Given the description of an element on the screen output the (x, y) to click on. 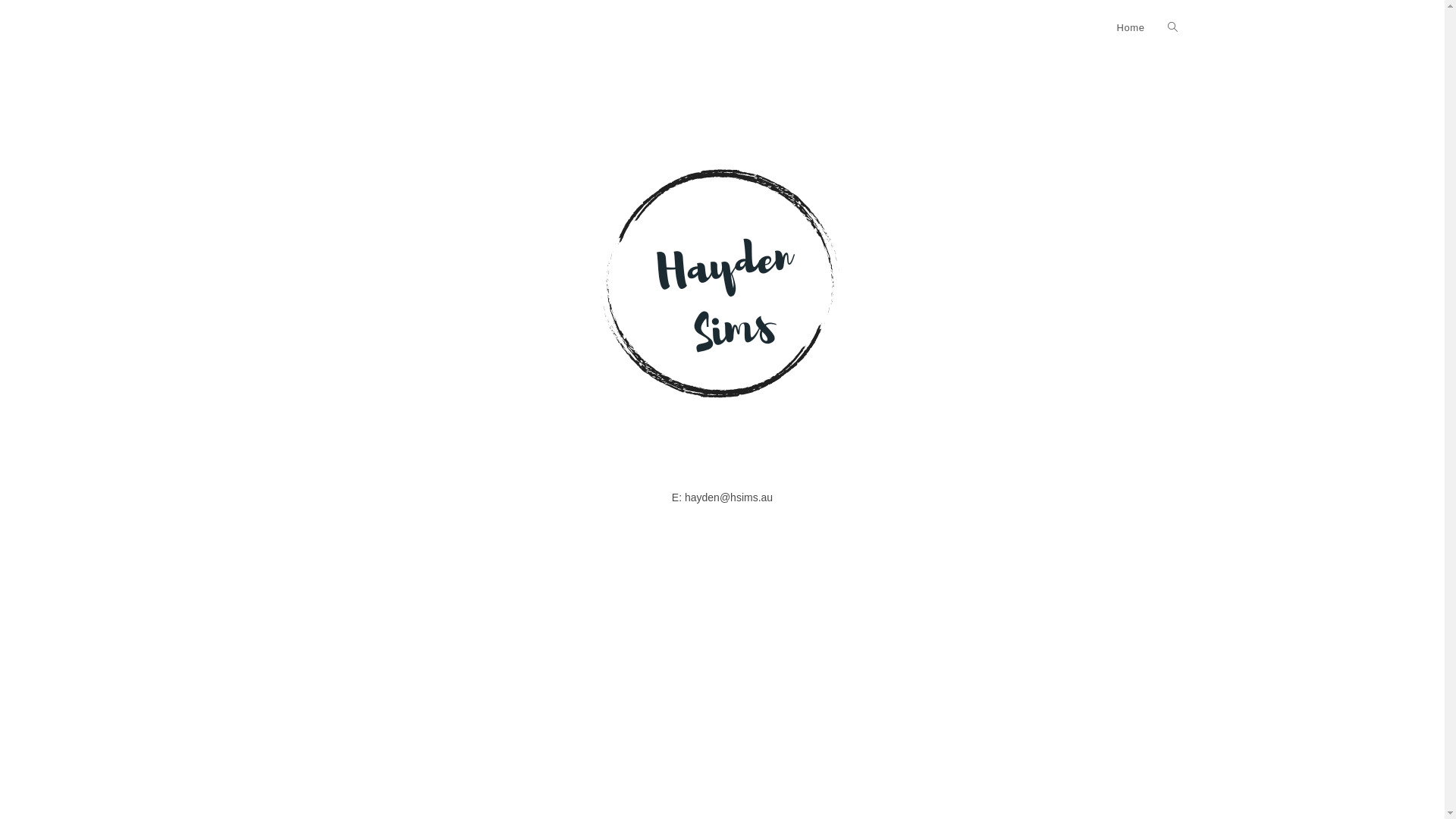
Toggle website search Element type: text (1171, 28)
Home Element type: text (1129, 28)
